Given the description of an element on the screen output the (x, y) to click on. 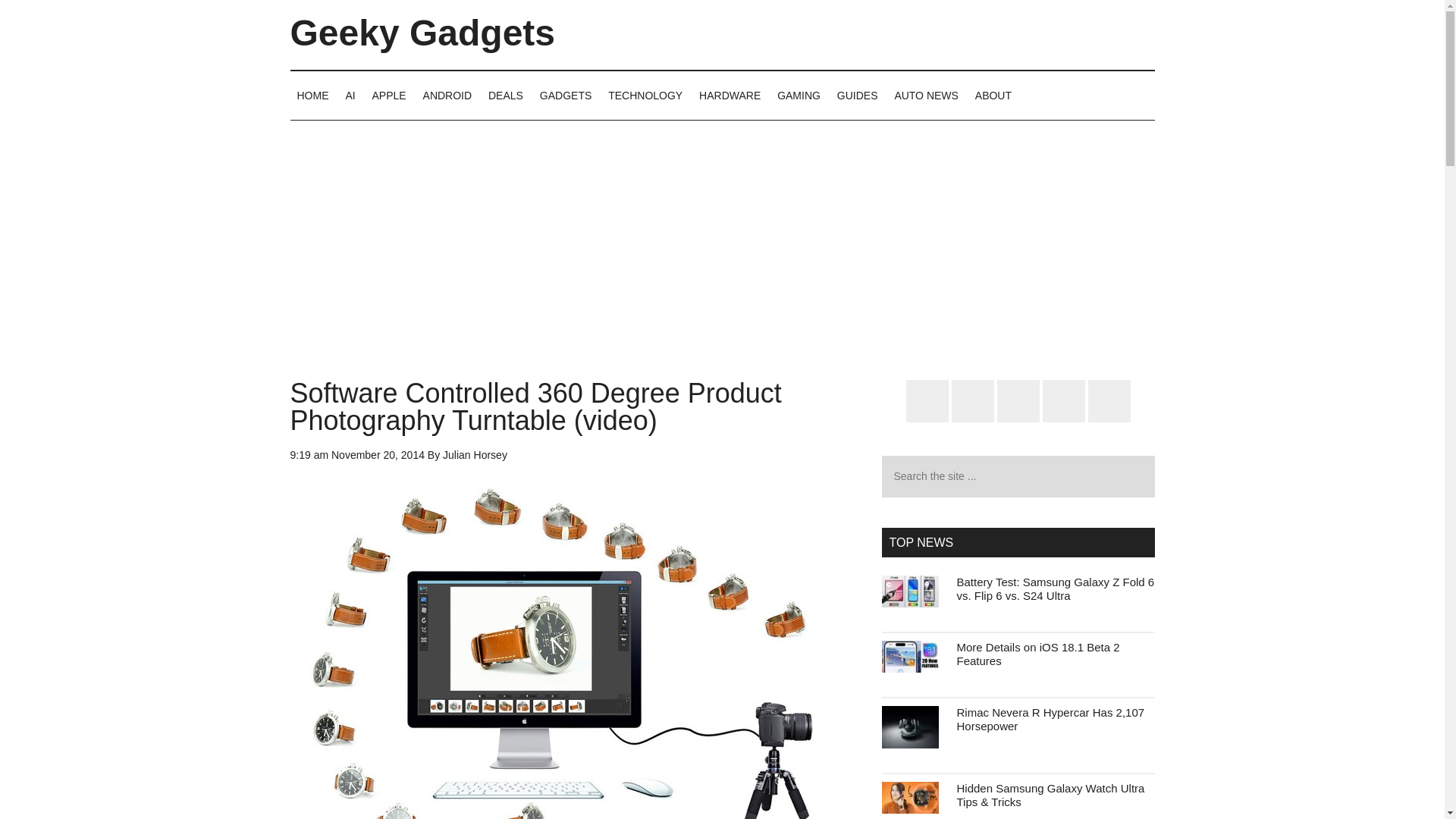
GADGETS (565, 95)
About Geeky Gadgets (992, 95)
TECHNOLOGY (644, 95)
ABOUT (992, 95)
GUIDES (857, 95)
ANDROID (447, 95)
Julian Horsey (474, 454)
Geeky Gadgets (421, 33)
